Given the description of an element on the screen output the (x, y) to click on. 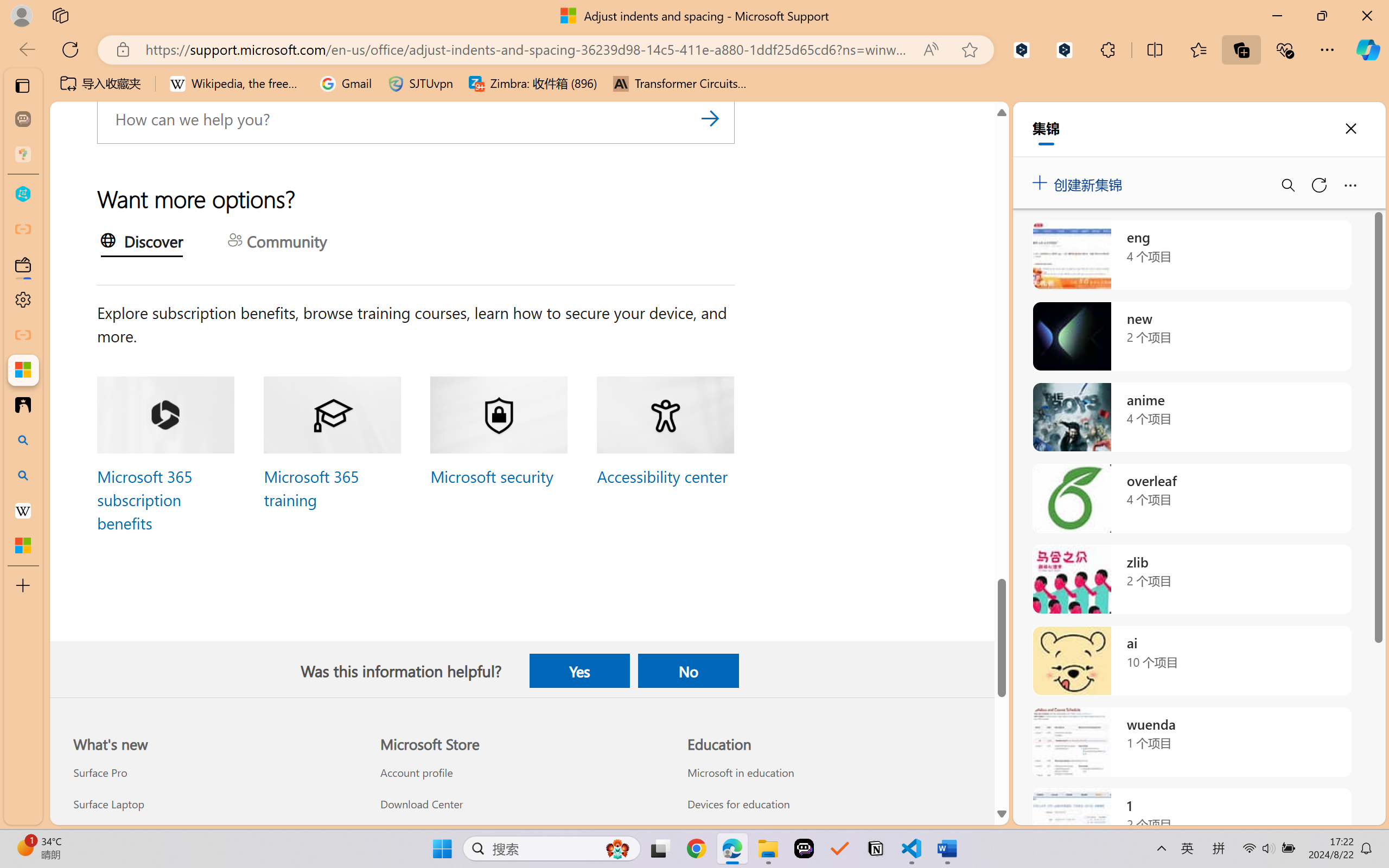
Surface Laptop What's new (108, 803)
No (687, 670)
Community (276, 242)
Microsoft Store support (521, 835)
Devices for education (828, 803)
wangyian_dsw - DSW (22, 194)
